Given the description of an element on the screen output the (x, y) to click on. 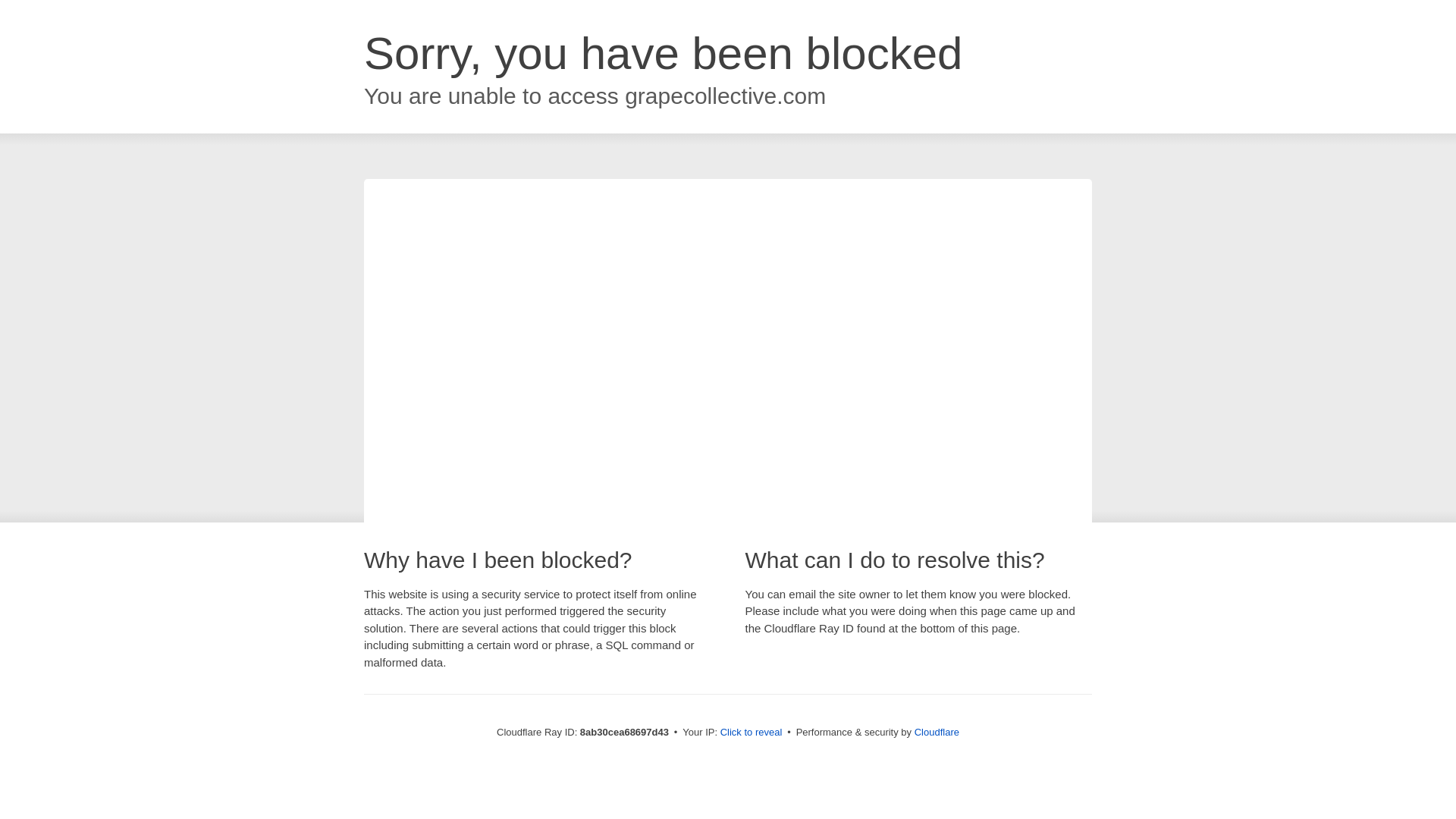
Cloudflare (936, 731)
Click to reveal (751, 732)
